Given the description of an element on the screen output the (x, y) to click on. 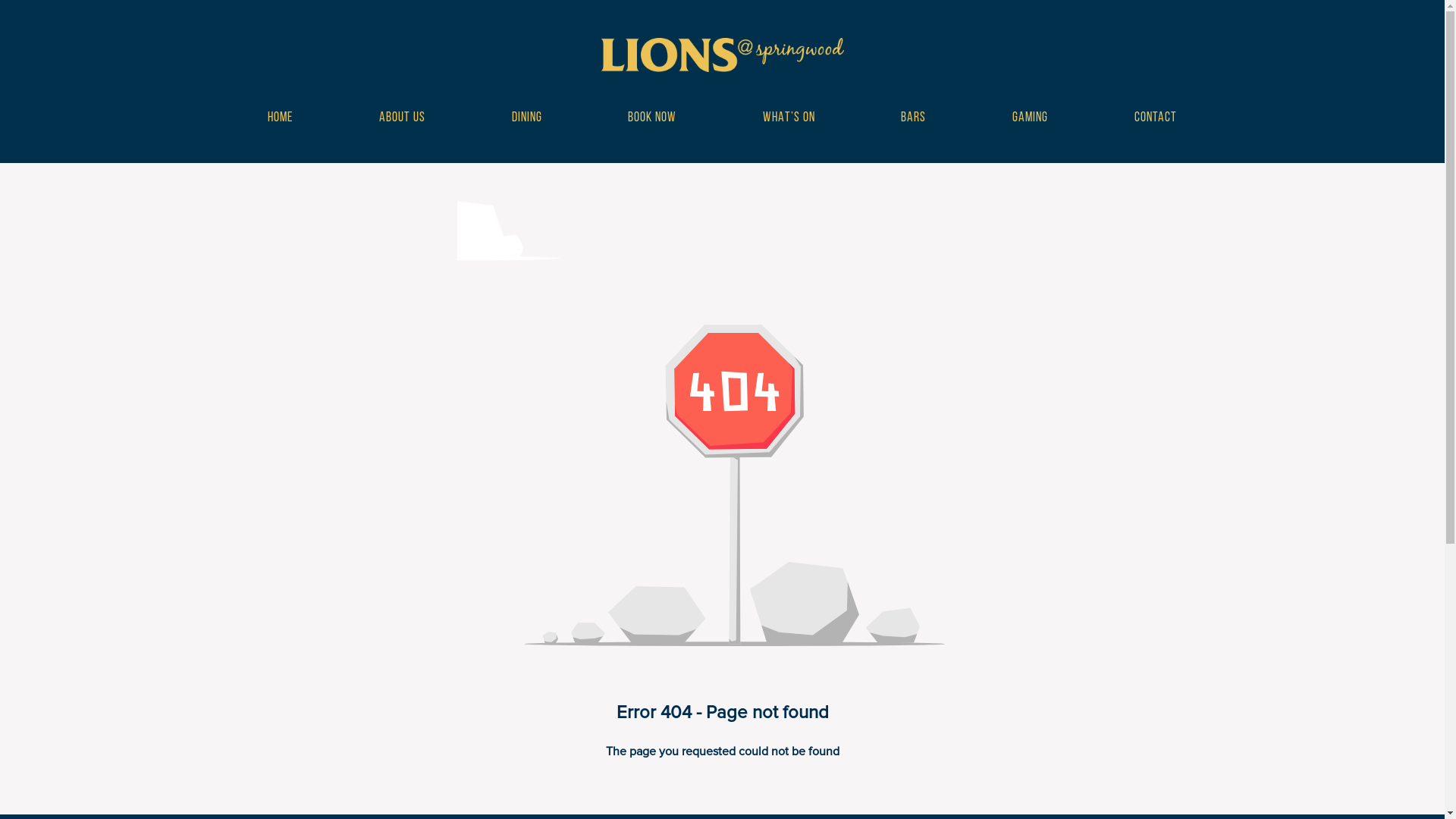
CONTACT Element type: text (1155, 118)
GAMING Element type: text (1030, 118)
BARS Element type: text (912, 118)
HOME Element type: text (279, 118)
BOOK NOW Element type: text (651, 118)
DINING Element type: text (526, 118)
ABOUT US Element type: text (402, 118)
